Given the description of an element on the screen output the (x, y) to click on. 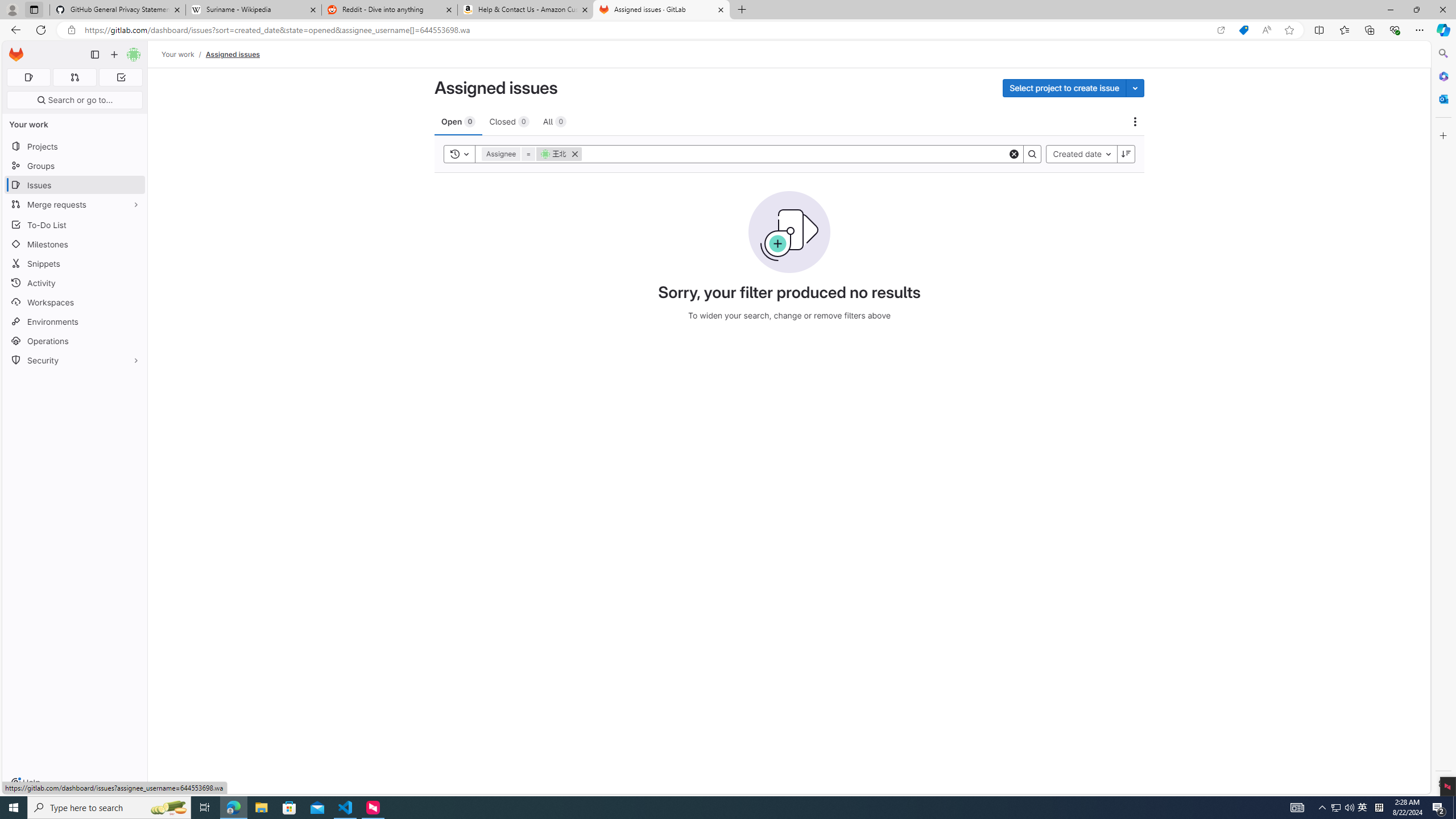
Snippets (74, 262)
To-Do List (74, 224)
Security (74, 359)
To-Do list 0 (120, 76)
Merge requests (74, 203)
Snippets (74, 262)
Environments (74, 321)
